Given the description of an element on the screen output the (x, y) to click on. 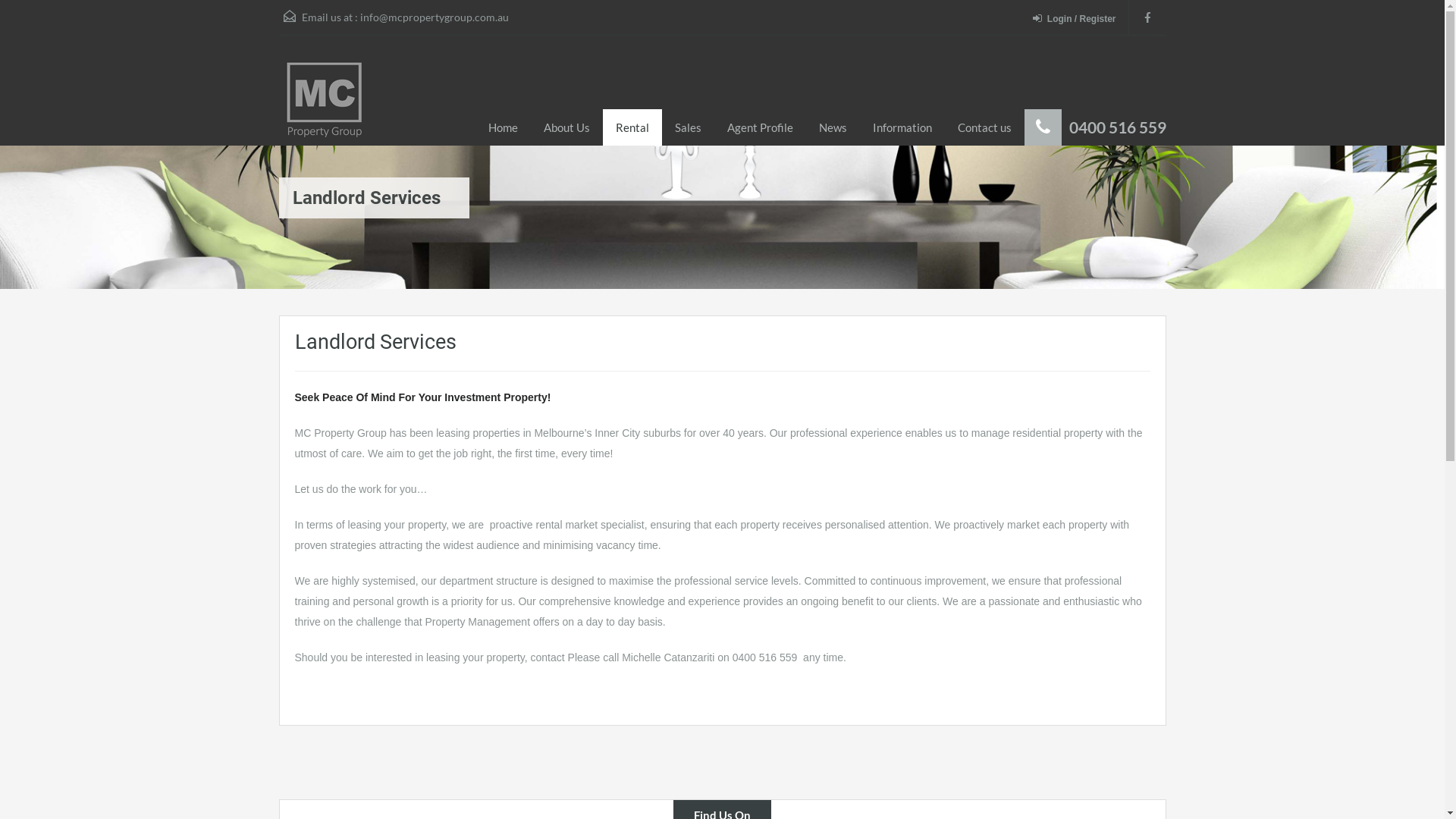
Rental Element type: text (631, 127)
info@mcpropertygroup.com.au Element type: text (433, 16)
Home Element type: text (502, 127)
About Us Element type: text (566, 127)
Agent Profile Element type: text (760, 127)
Sales Element type: text (687, 127)
Information Element type: text (901, 127)
Contact us Element type: text (984, 127)
News Element type: text (832, 127)
Login / Register Element type: text (1077, 19)
